Given the description of an element on the screen output the (x, y) to click on. 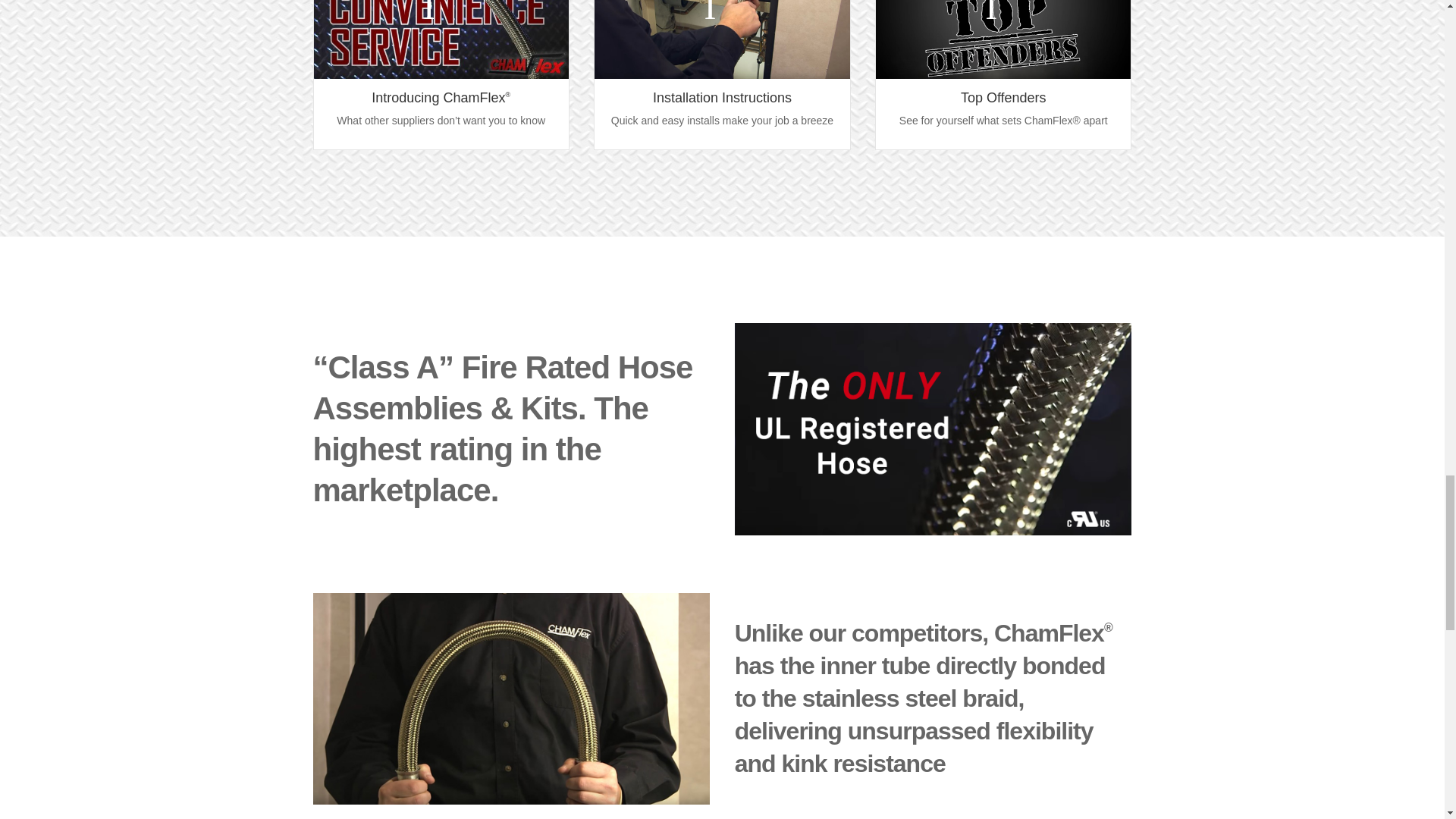
ChamFlex Hose Introduces Push To Connect (441, 39)
